Given the description of an element on the screen output the (x, y) to click on. 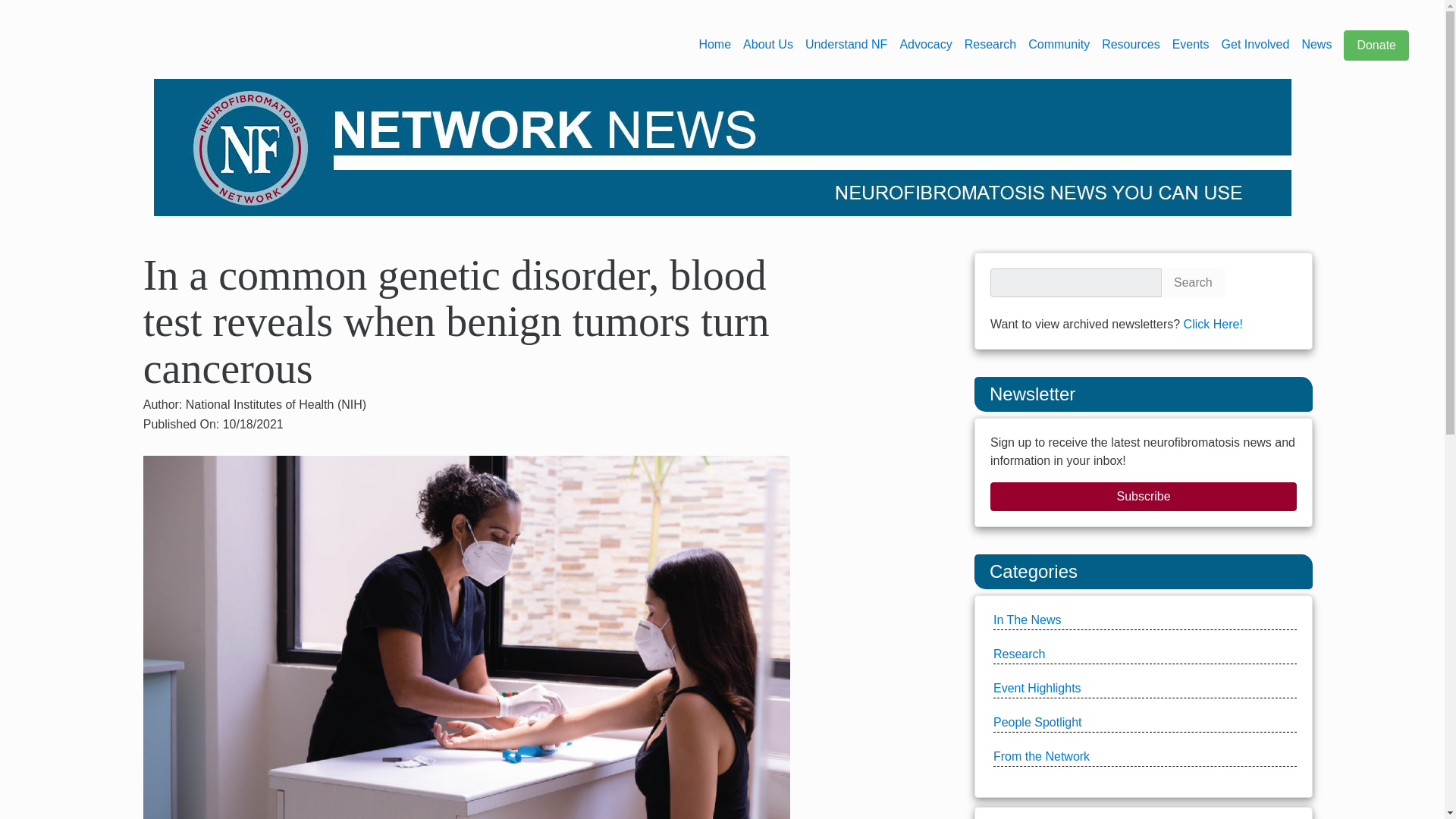
Advocacy (925, 44)
Research (989, 44)
Home (714, 44)
Search (1192, 282)
About Us (767, 44)
Advocacy (925, 44)
Search (1192, 282)
About Us (767, 44)
Understand NF (846, 44)
Community (1058, 44)
Research (989, 44)
Understand NF (846, 44)
Home (714, 44)
Resources (1130, 44)
Events (1190, 44)
